Given the description of an element on the screen output the (x, y) to click on. 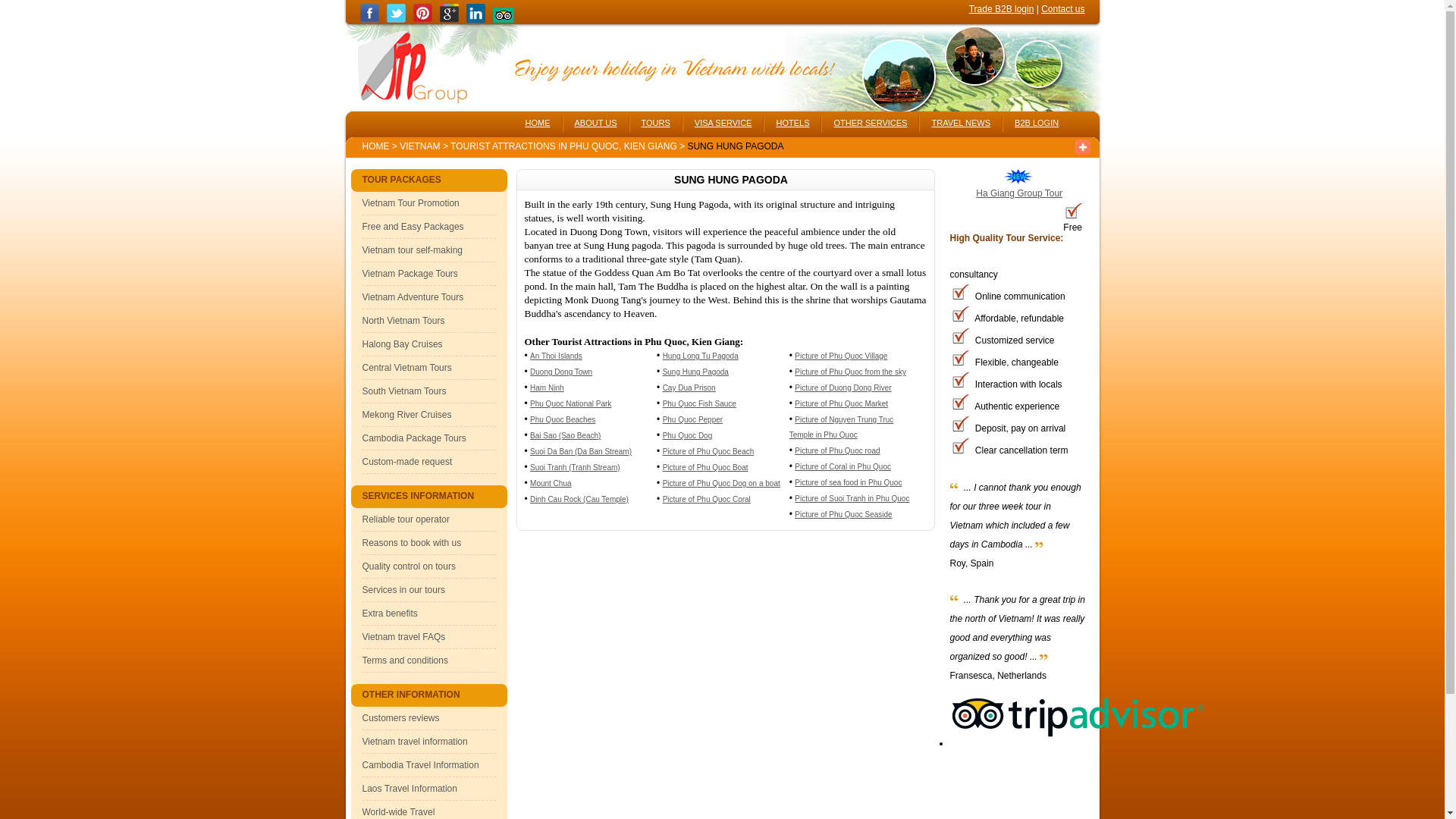
HOME (376, 145)
TRAVEL NEWS (960, 119)
Free and Easy Packages (413, 226)
Vietnam Adventure Tours (413, 296)
Information about Central Vietnam Tours (406, 367)
Extra benefits (389, 613)
Contact us (1062, 9)
Information about South Vietnam Tours (404, 390)
HOTELS (792, 119)
Terms and conditions (405, 660)
